Given the description of an element on the screen output the (x, y) to click on. 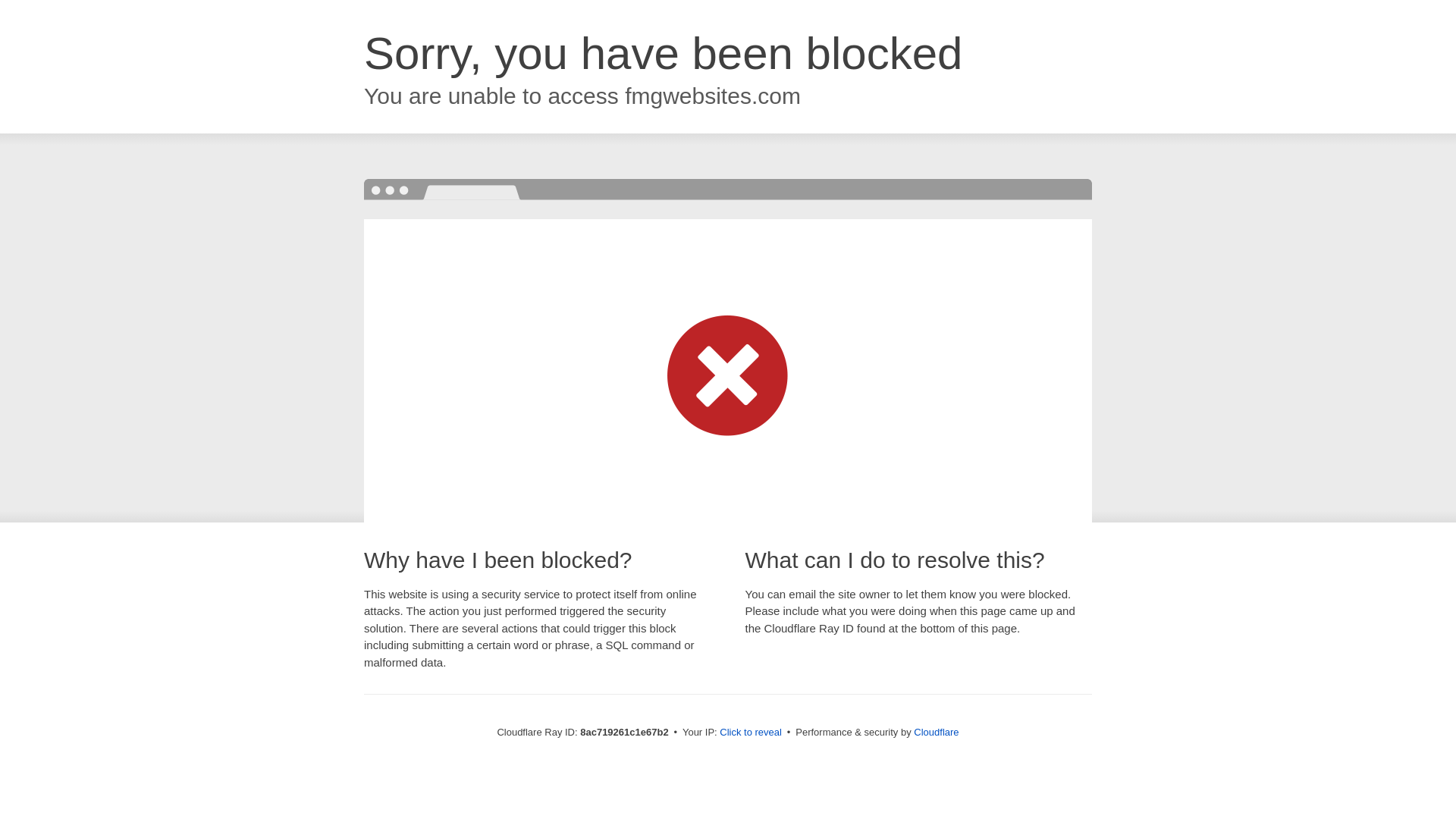
Click to reveal (750, 732)
Cloudflare (936, 731)
